Given the description of an element on the screen output the (x, y) to click on. 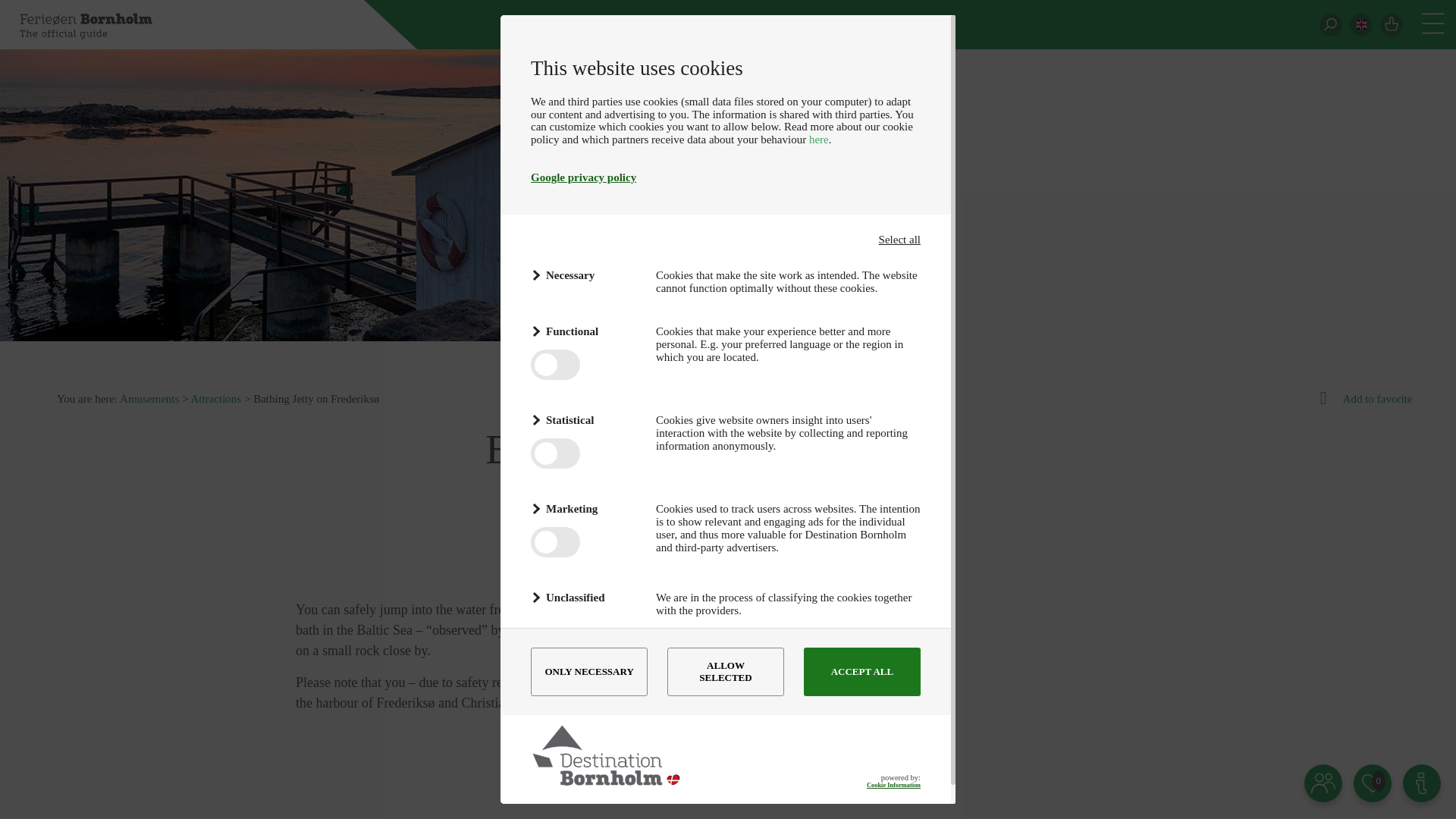
Google privacy policy (583, 177)
here (818, 139)
Marketing (584, 508)
Statistical (584, 420)
Necessary (584, 275)
Select all (899, 239)
Functional (584, 331)
